Given the description of an element on the screen output the (x, y) to click on. 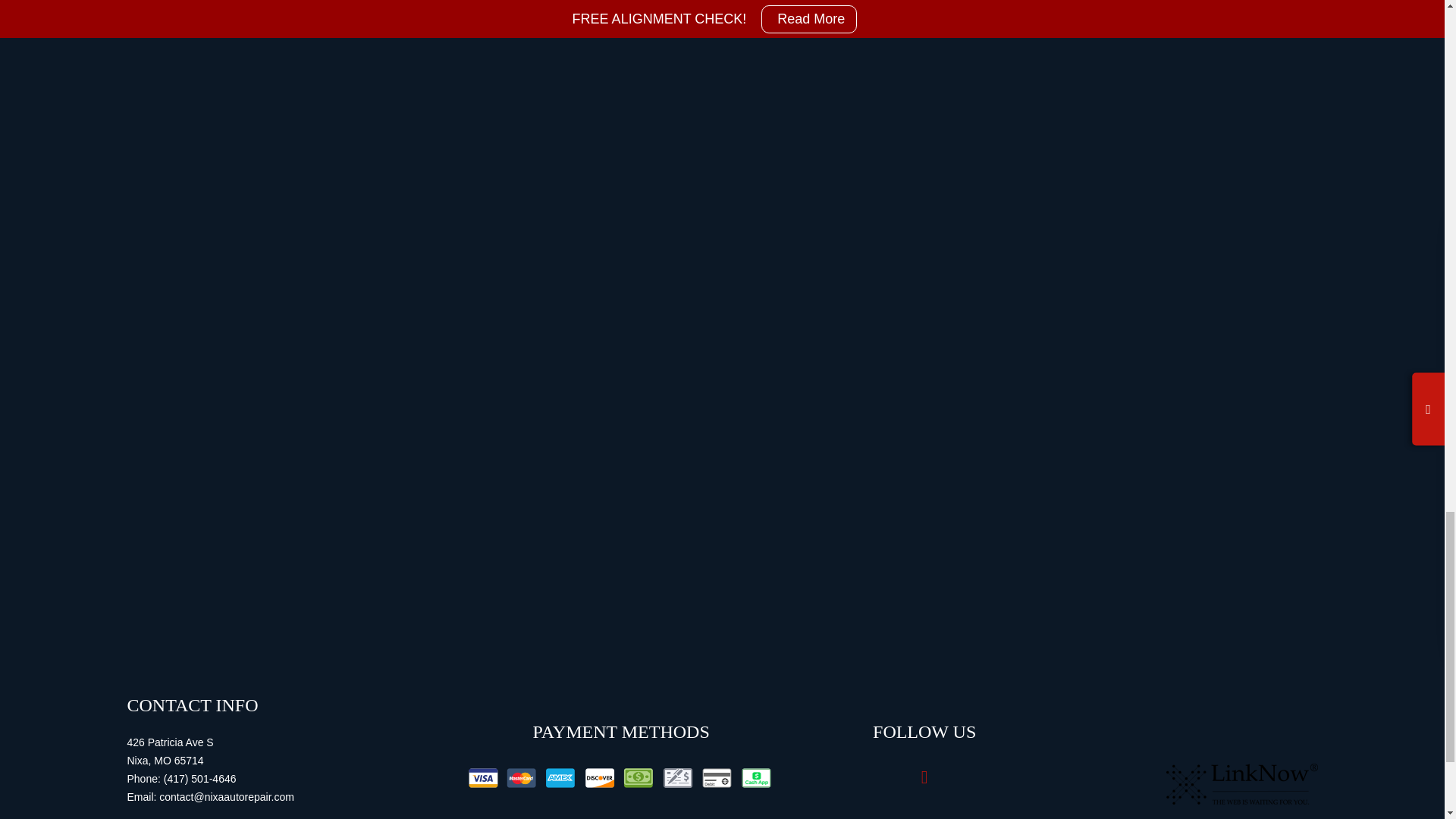
Debit Card (716, 777)
Mastercard (521, 777)
Check (678, 777)
Cash App (755, 777)
Discover (599, 777)
Cash (638, 777)
American Express (560, 777)
Visa (483, 777)
